Given the description of an element on the screen output the (x, y) to click on. 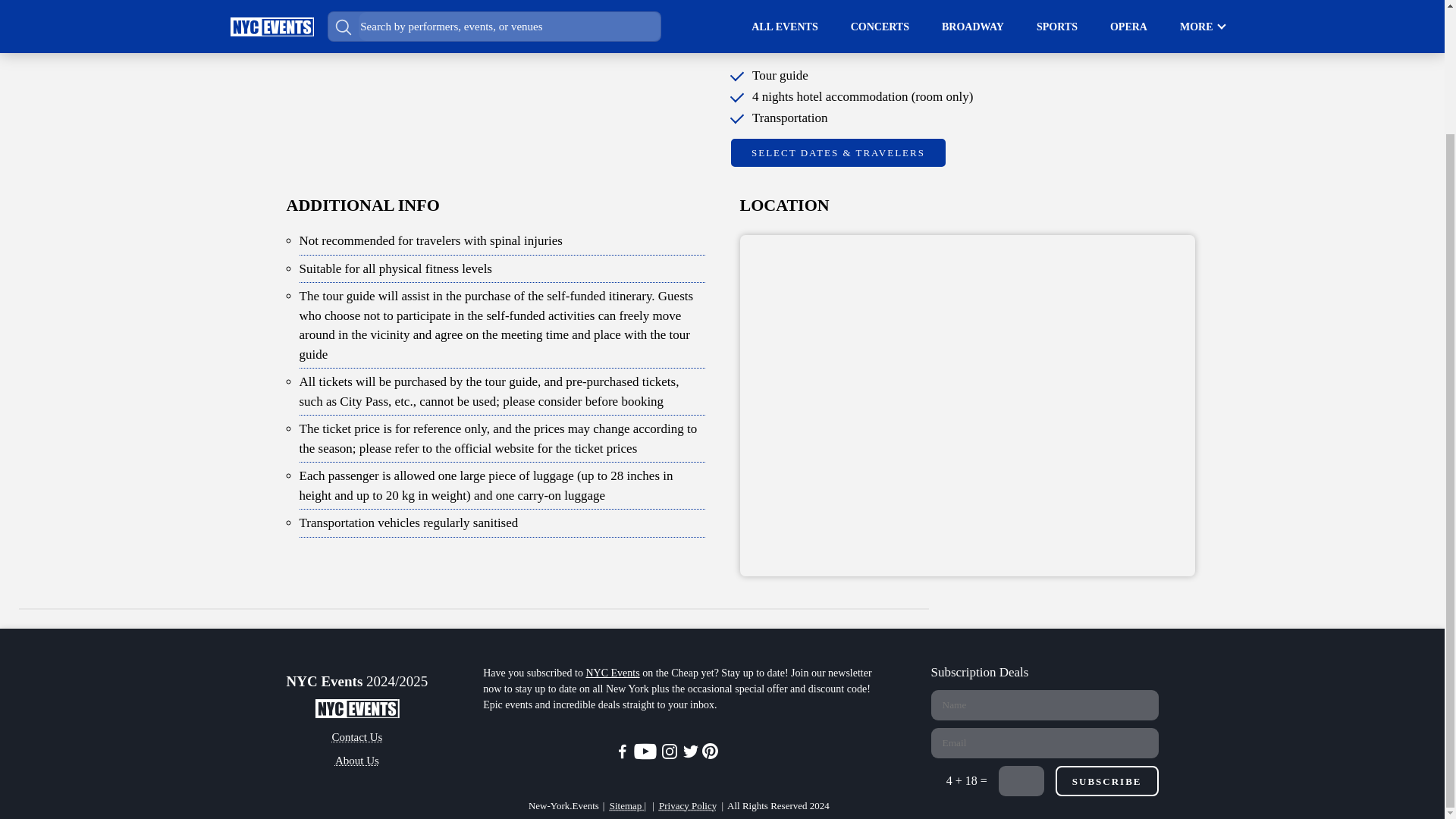
About Us (356, 761)
Contact Us (356, 737)
NYC Events (612, 672)
